Given the description of an element on the screen output the (x, y) to click on. 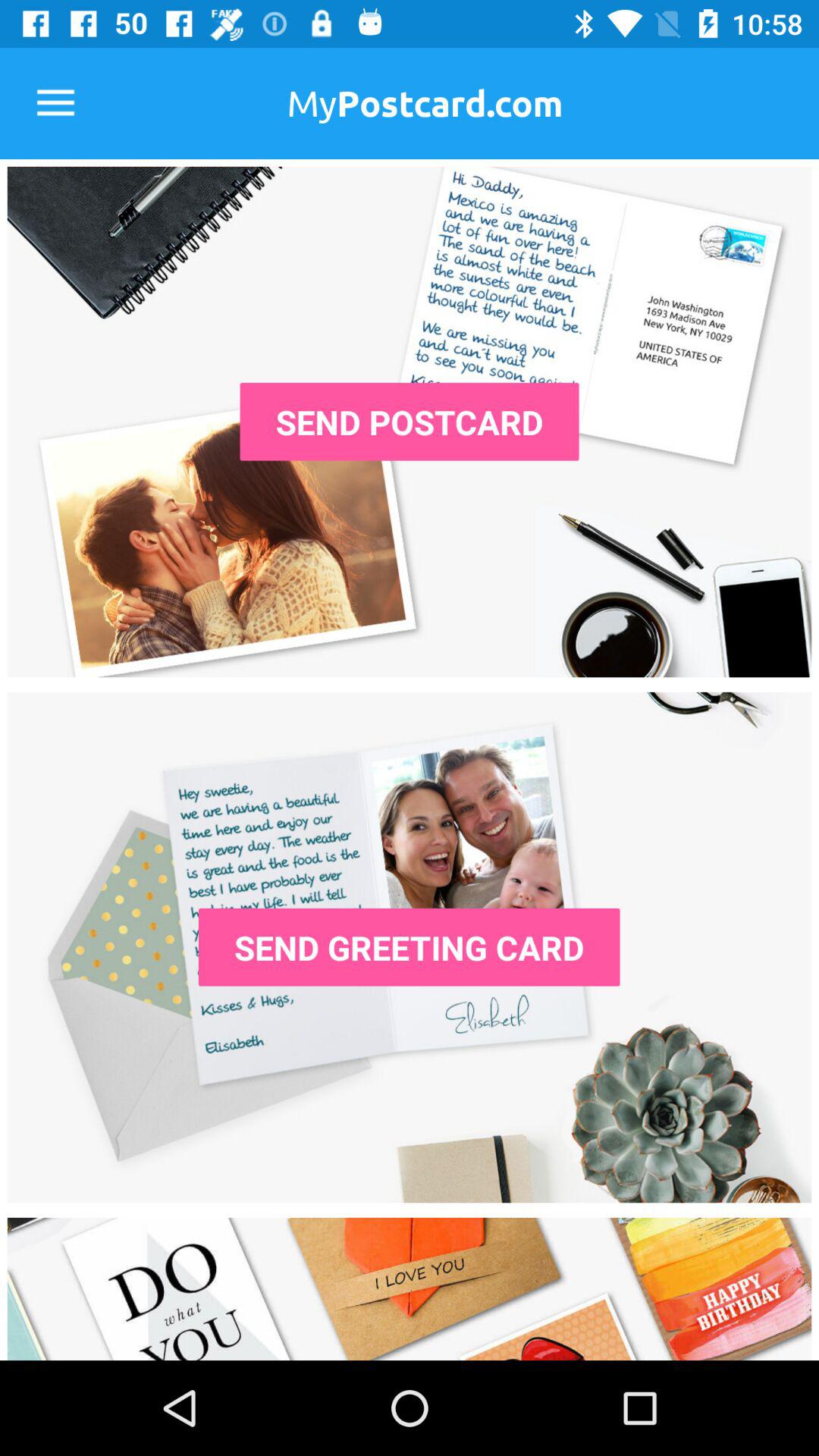
open the icon next to the mypostcard.com icon (55, 103)
